Given the description of an element on the screen output the (x, y) to click on. 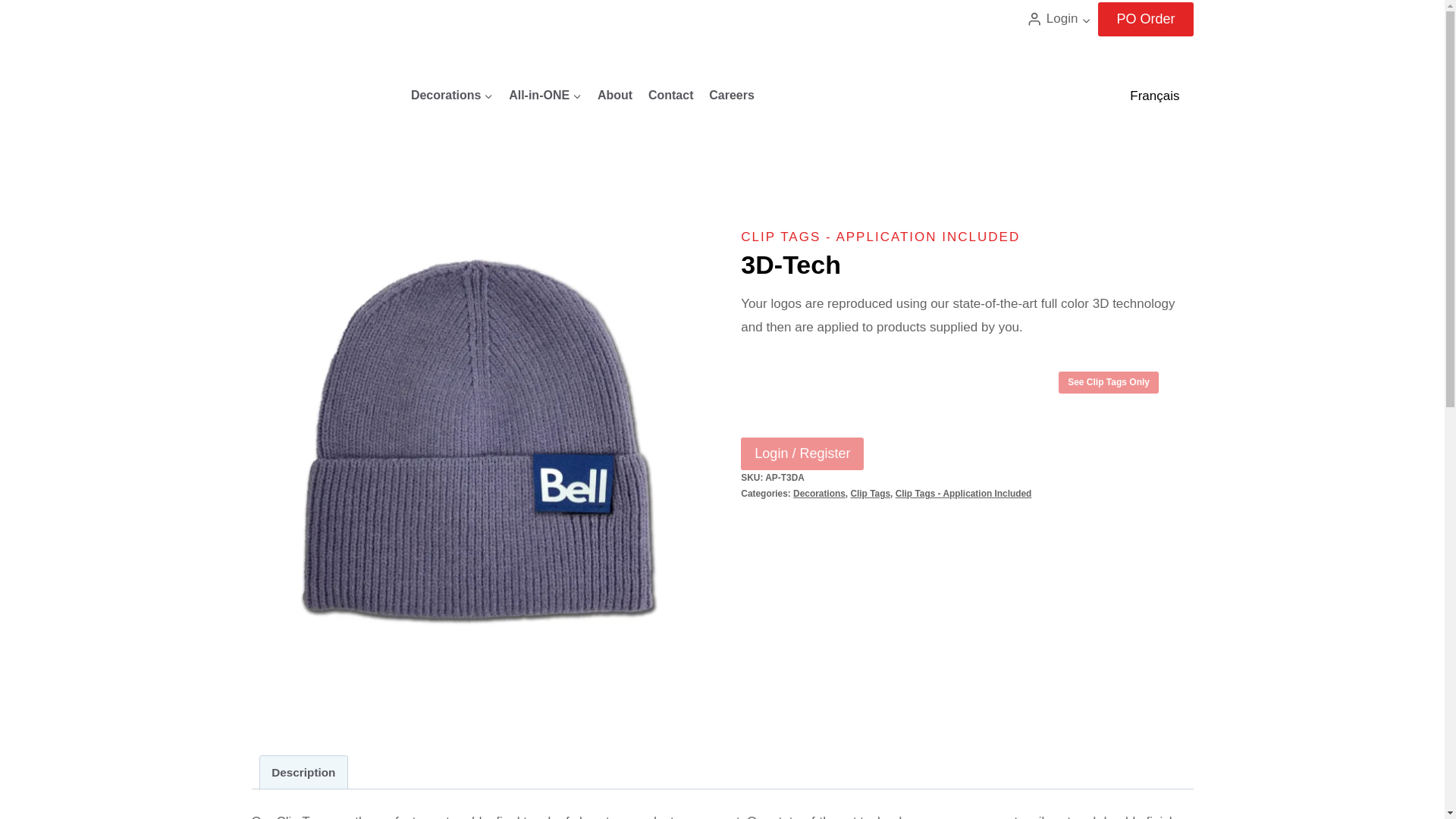
Careers (731, 94)
Decorations (451, 94)
All-in-ONE (544, 94)
PO Order (1144, 19)
Login (1058, 19)
About (614, 94)
Contact (670, 94)
